Given the description of an element on the screen output the (x, y) to click on. 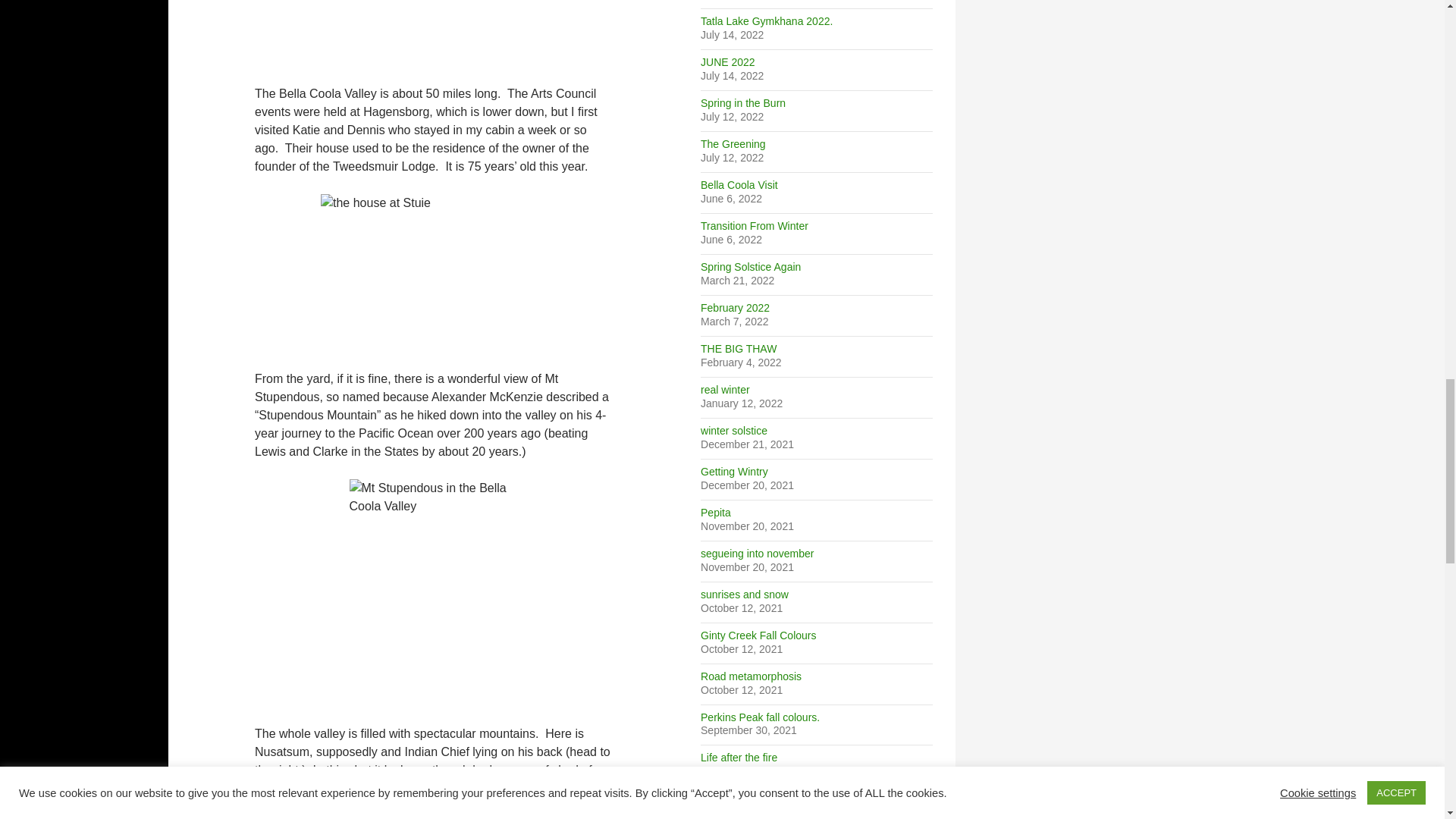
house (434, 279)
The Hill (434, 33)
